Given the description of an element on the screen output the (x, y) to click on. 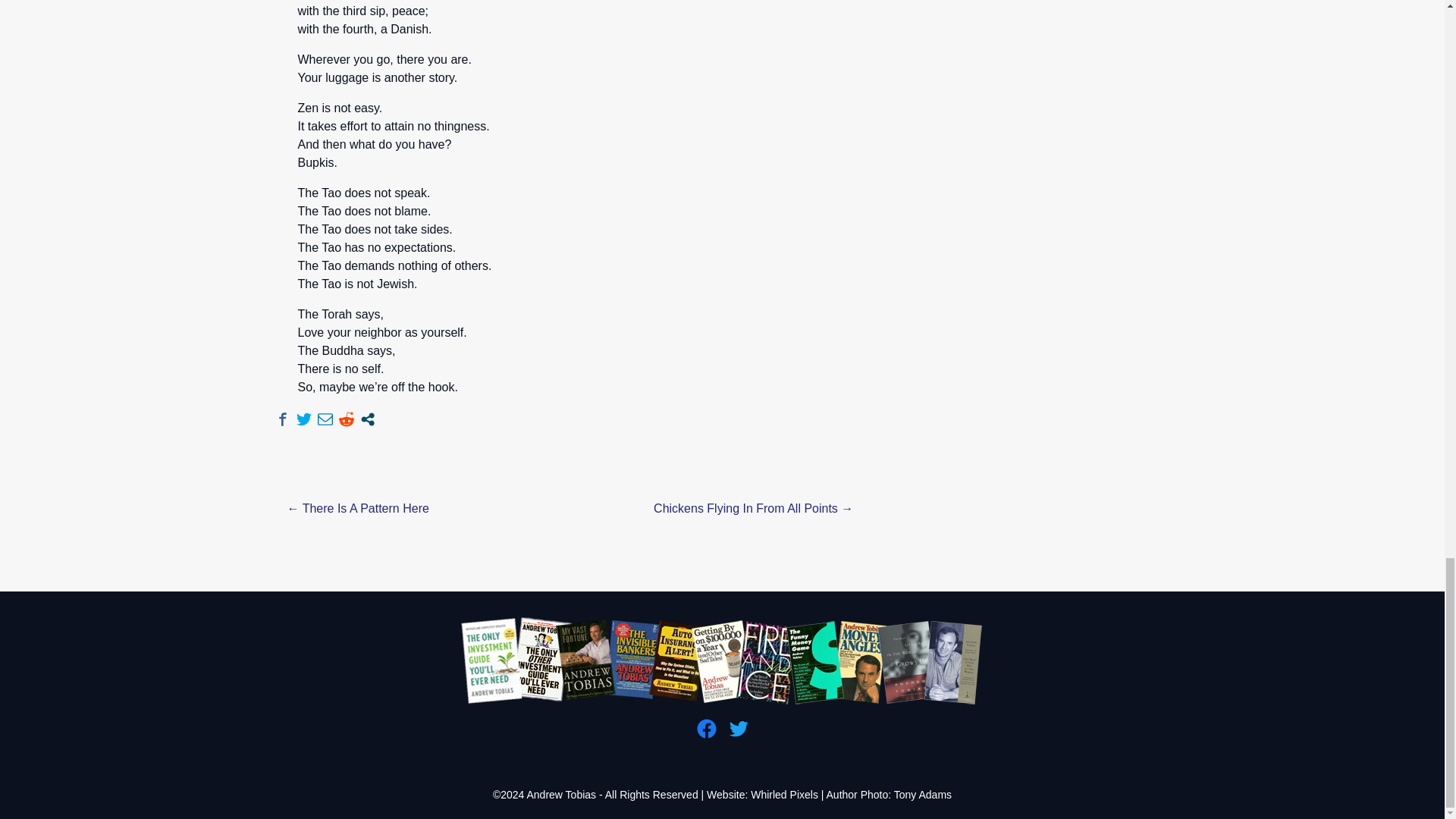
Tweet (303, 418)
Send by email (324, 418)
Share on Reddit (345, 418)
Open modal social networks (366, 418)
Share on Facebook (282, 418)
